Given the description of an element on the screen output the (x, y) to click on. 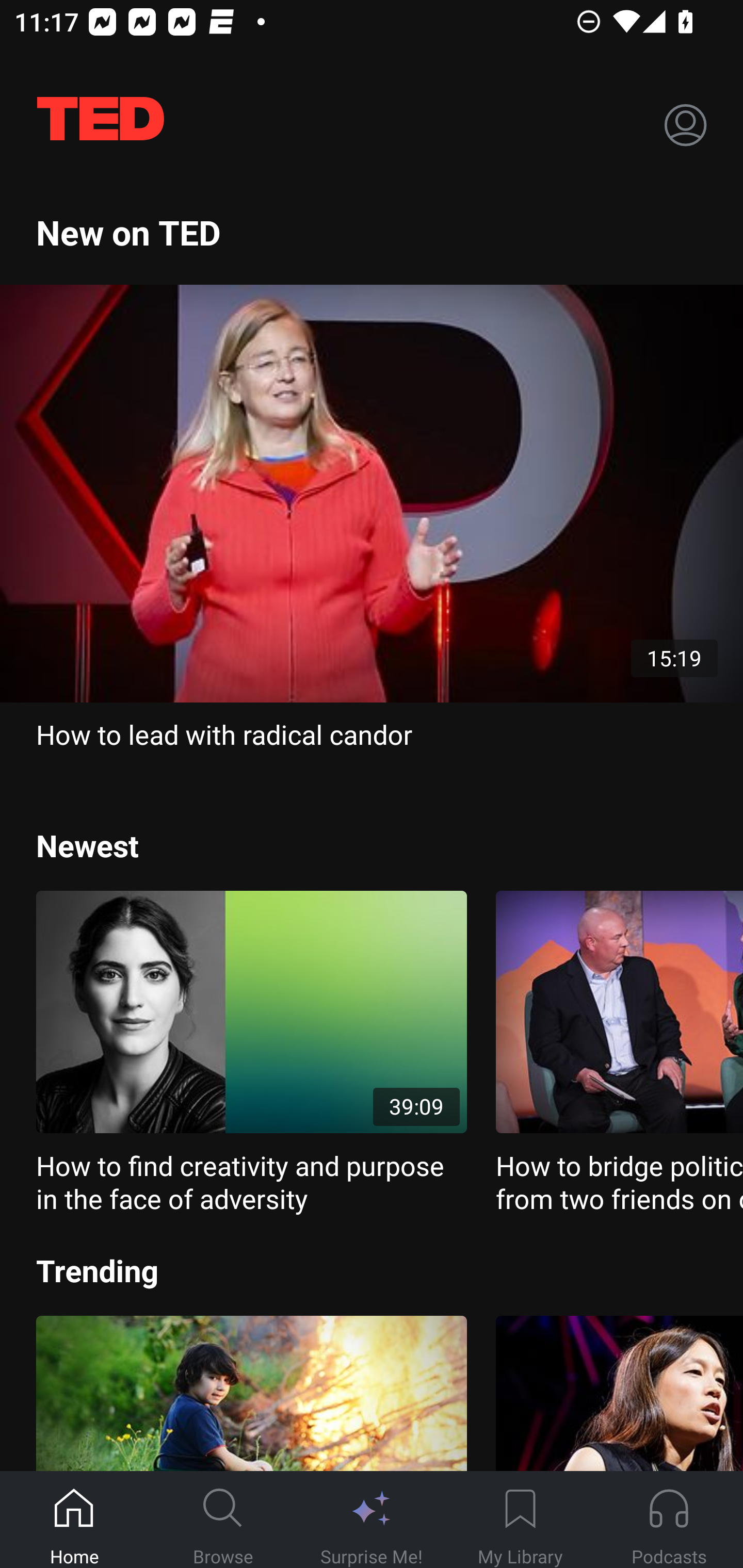
Home (74, 1520)
Browse (222, 1520)
Surprise Me! (371, 1520)
My Library (519, 1520)
Podcasts (668, 1520)
